Given the description of an element on the screen output the (x, y) to click on. 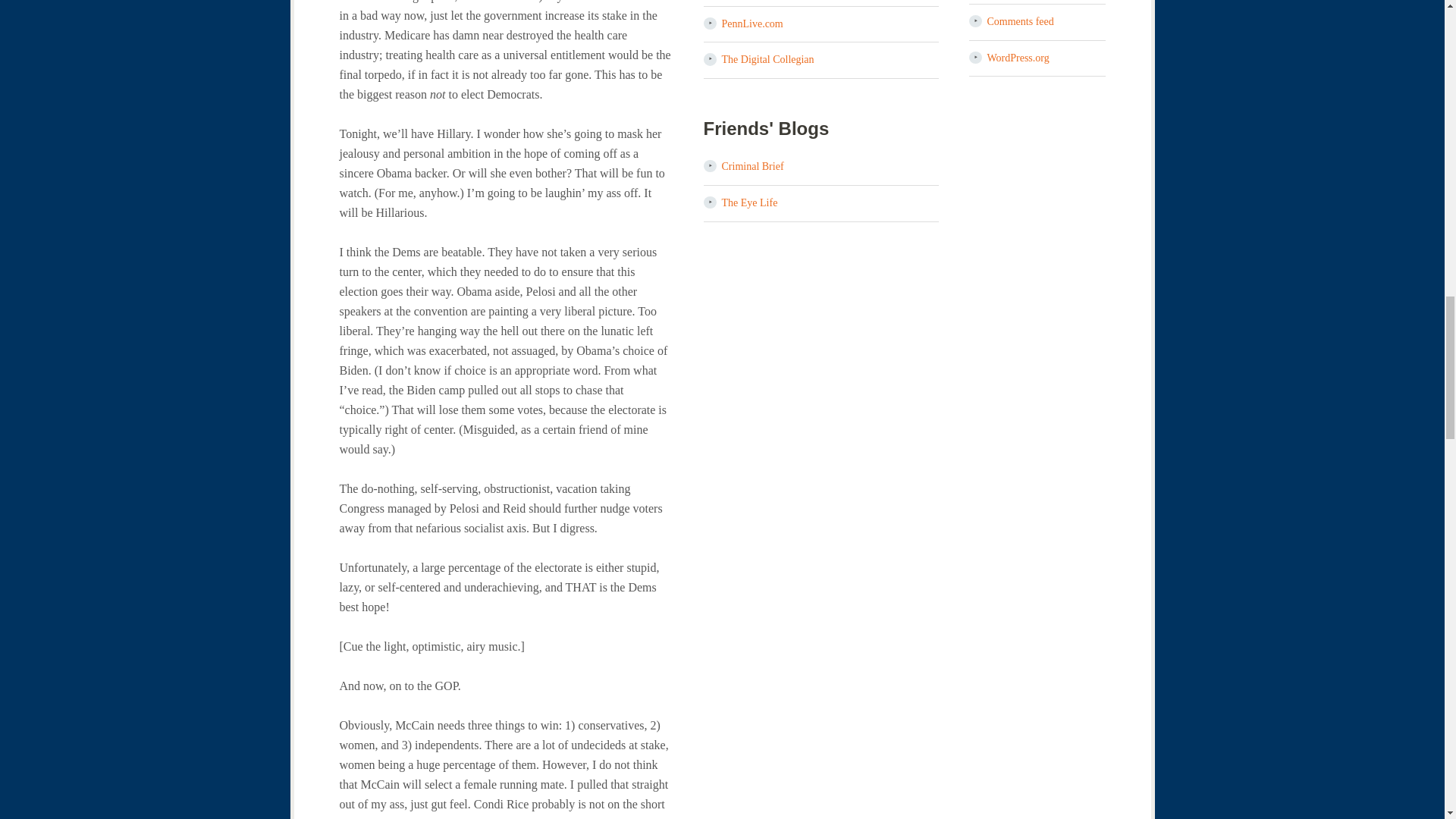
Patriot-news Penn State football section (752, 23)
